Given the description of an element on the screen output the (x, y) to click on. 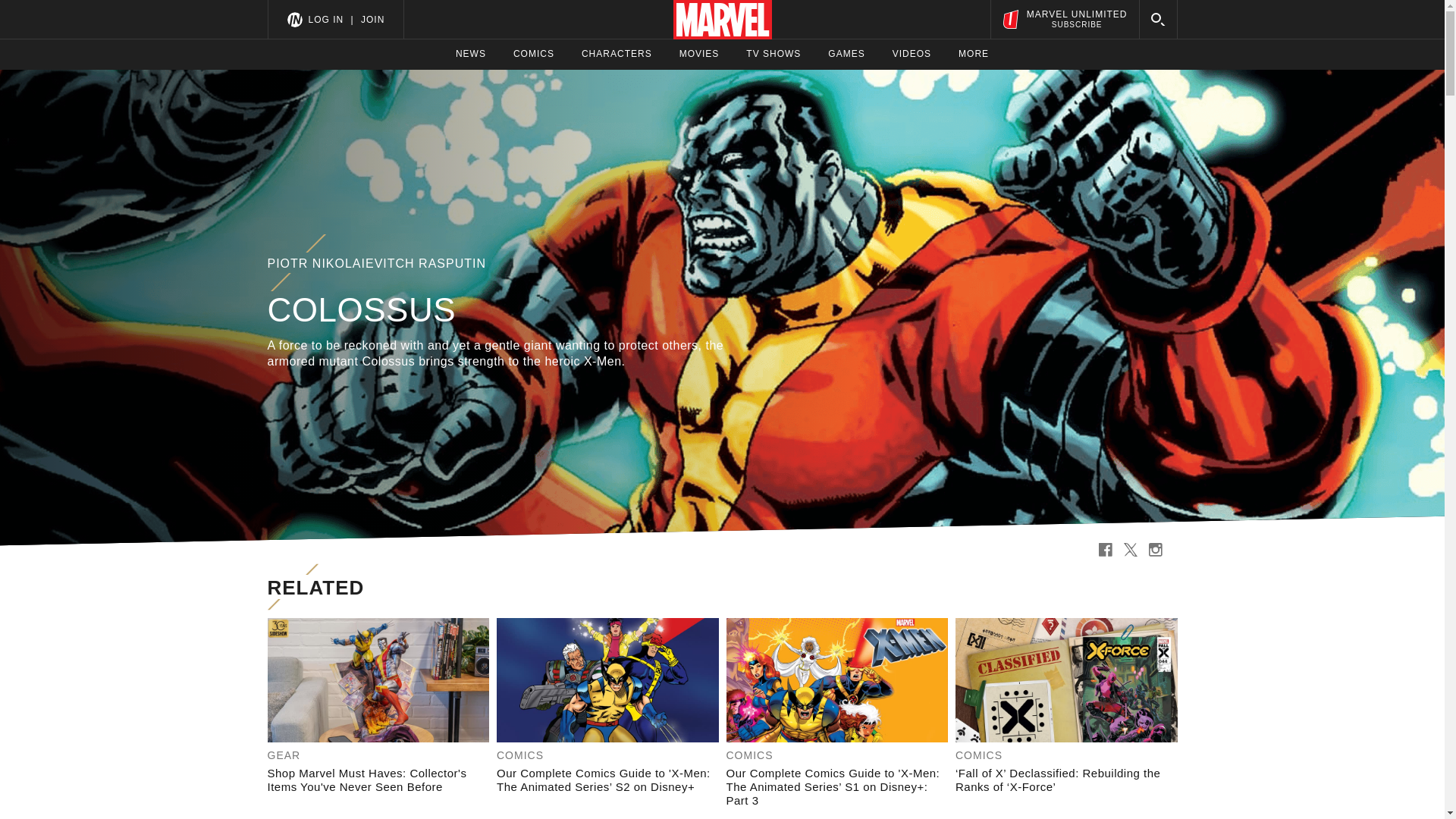
LOG IN (325, 18)
CHARACTERS (616, 54)
MOVIES (1064, 19)
COMICS (699, 54)
VIDEOS (533, 54)
JOIN (911, 54)
GAMES (372, 18)
TV SHOWS (846, 54)
NEWS (772, 54)
